Given the description of an element on the screen output the (x, y) to click on. 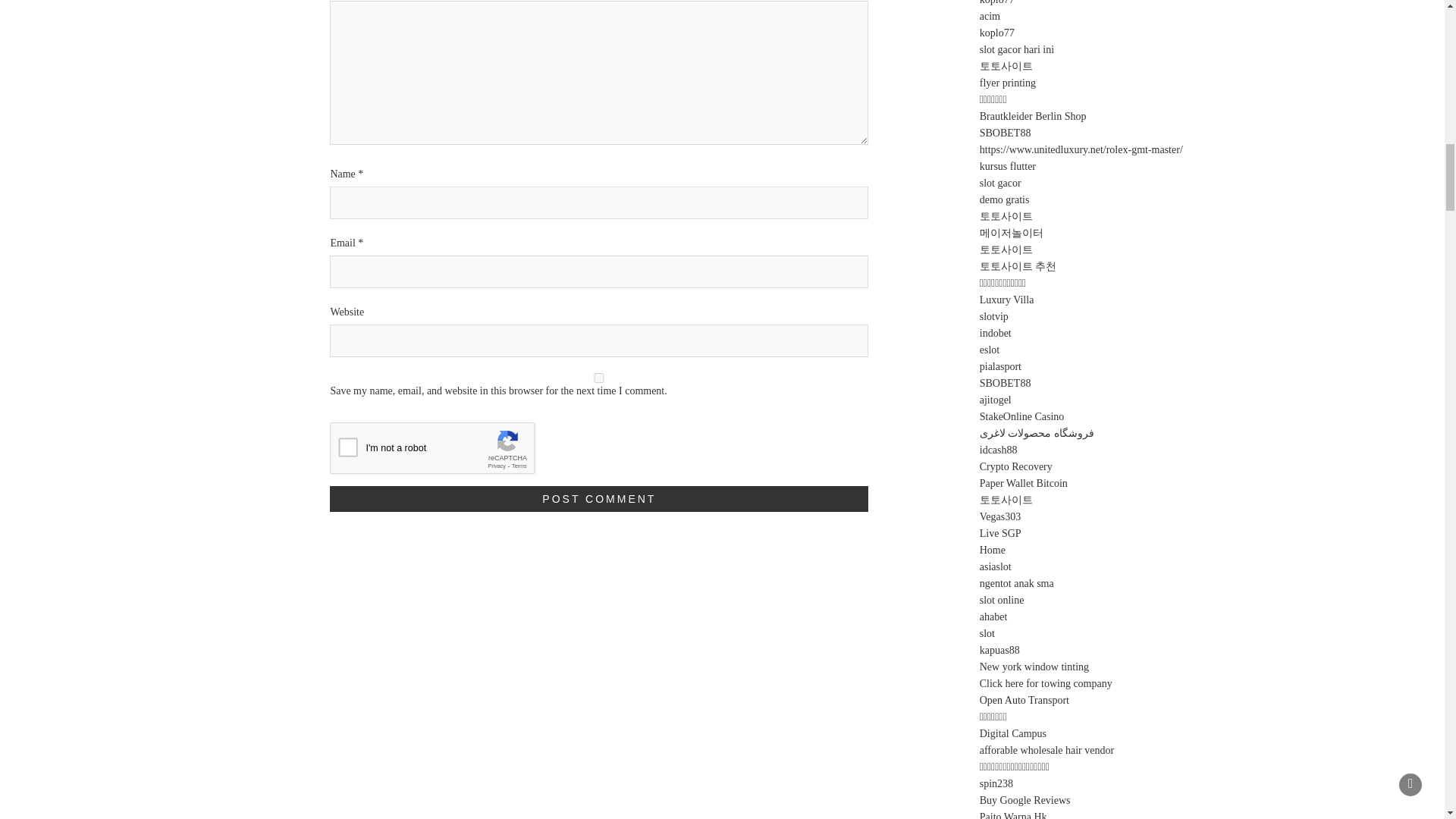
reCAPTCHA (445, 451)
yes (598, 378)
Post Comment (598, 498)
Post Comment (598, 498)
